Given the description of an element on the screen output the (x, y) to click on. 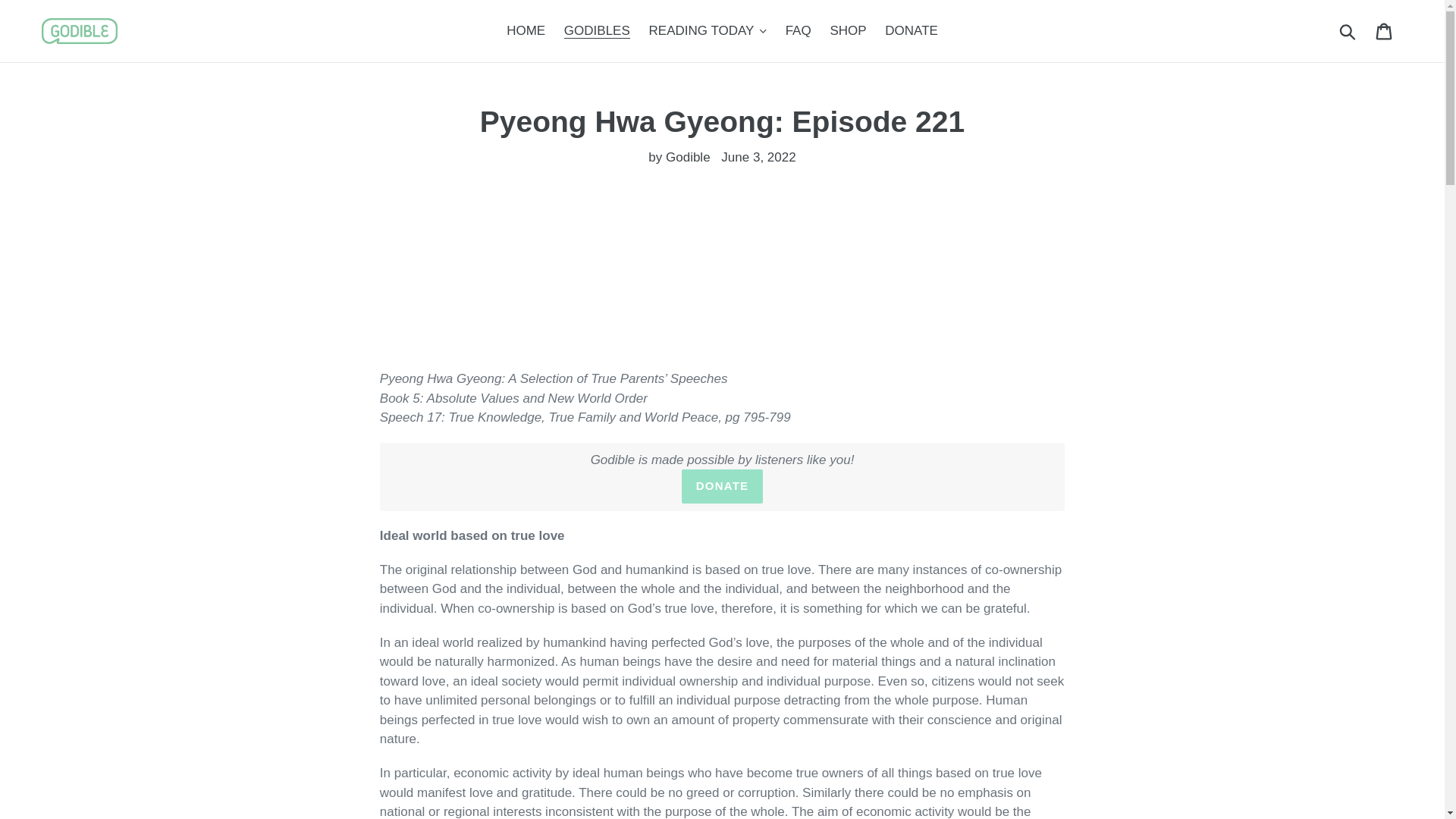
GODIBLES (596, 30)
SHOP (847, 30)
DONATE (721, 486)
DONATE (910, 30)
Cart (1385, 30)
Submit (1348, 30)
HOME (526, 30)
FAQ (797, 30)
